Given the description of an element on the screen output the (x, y) to click on. 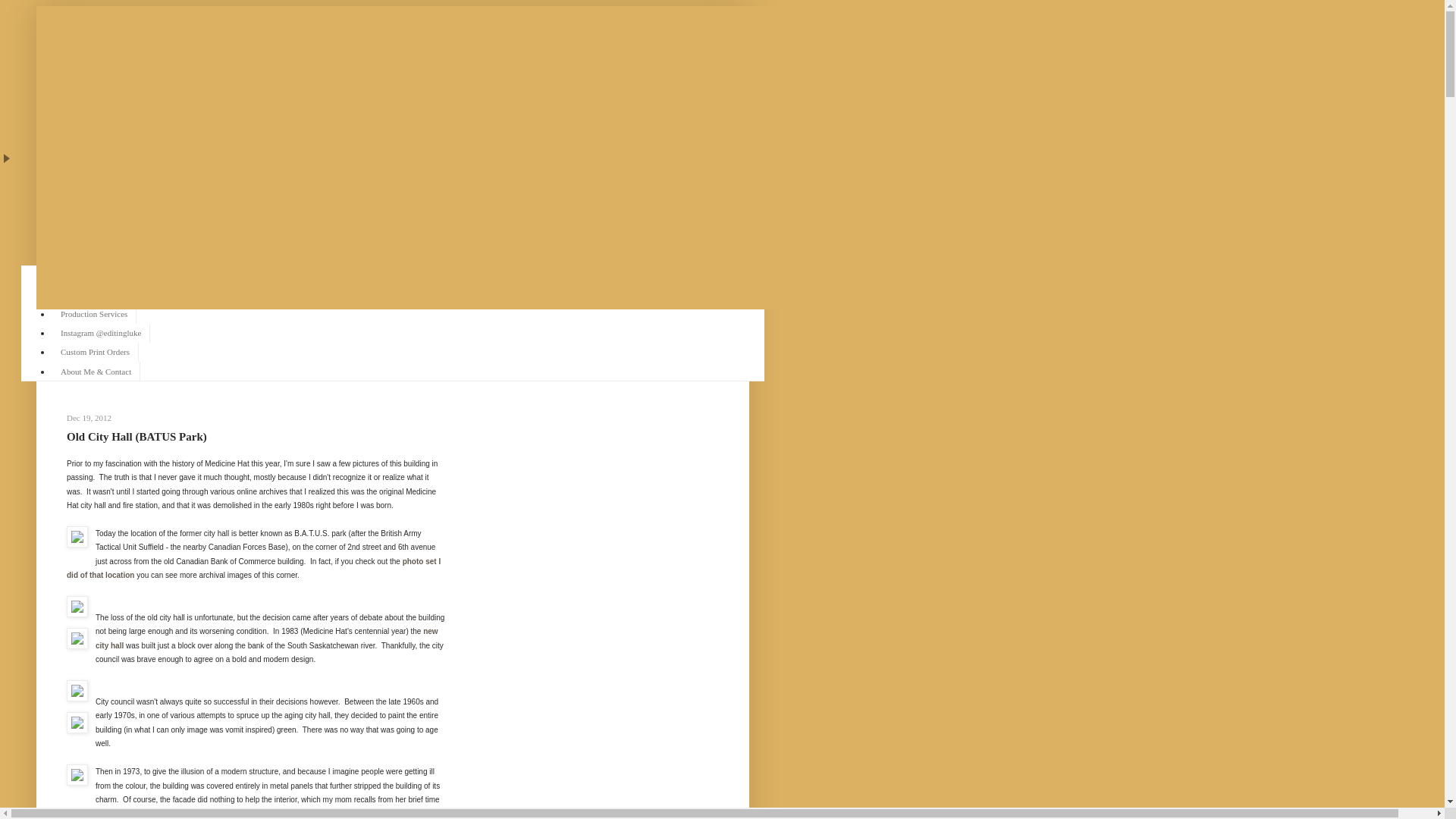
Custom Print Orders (94, 352)
Home (69, 275)
new city hall (267, 638)
Production Services (93, 312)
photo set I did of that location (253, 568)
